Given the description of an element on the screen output the (x, y) to click on. 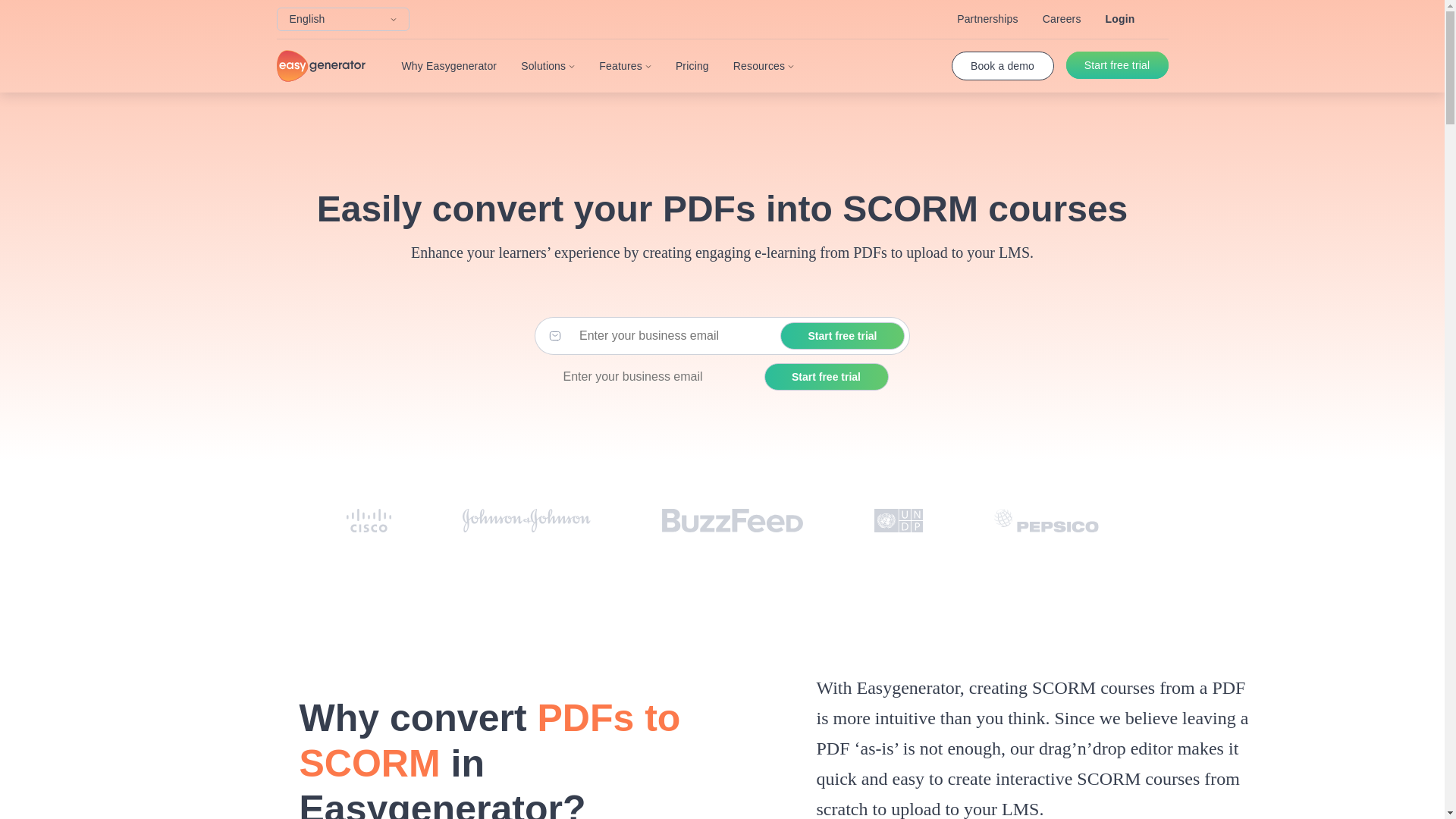
Book a demo (1001, 65)
Login (1120, 19)
Resources (763, 65)
Start free trial (1117, 64)
Features (624, 65)
Pricing (692, 65)
Start free trial (842, 335)
Why Easygenerator (449, 65)
Start free trial (826, 376)
Solutions (548, 65)
